Given the description of an element on the screen output the (x, y) to click on. 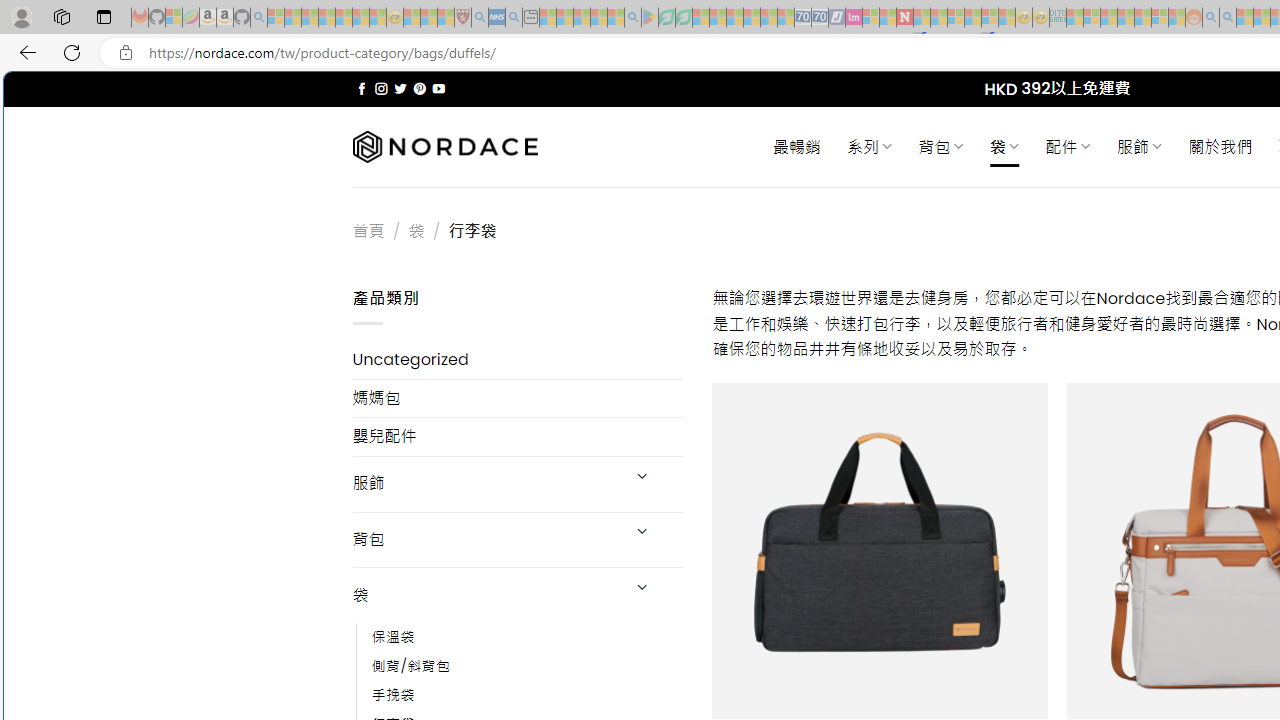
Follow on Facebook (361, 88)
Uncategorized (517, 359)
Follow on Instagram (381, 88)
